Given the description of an element on the screen output the (x, y) to click on. 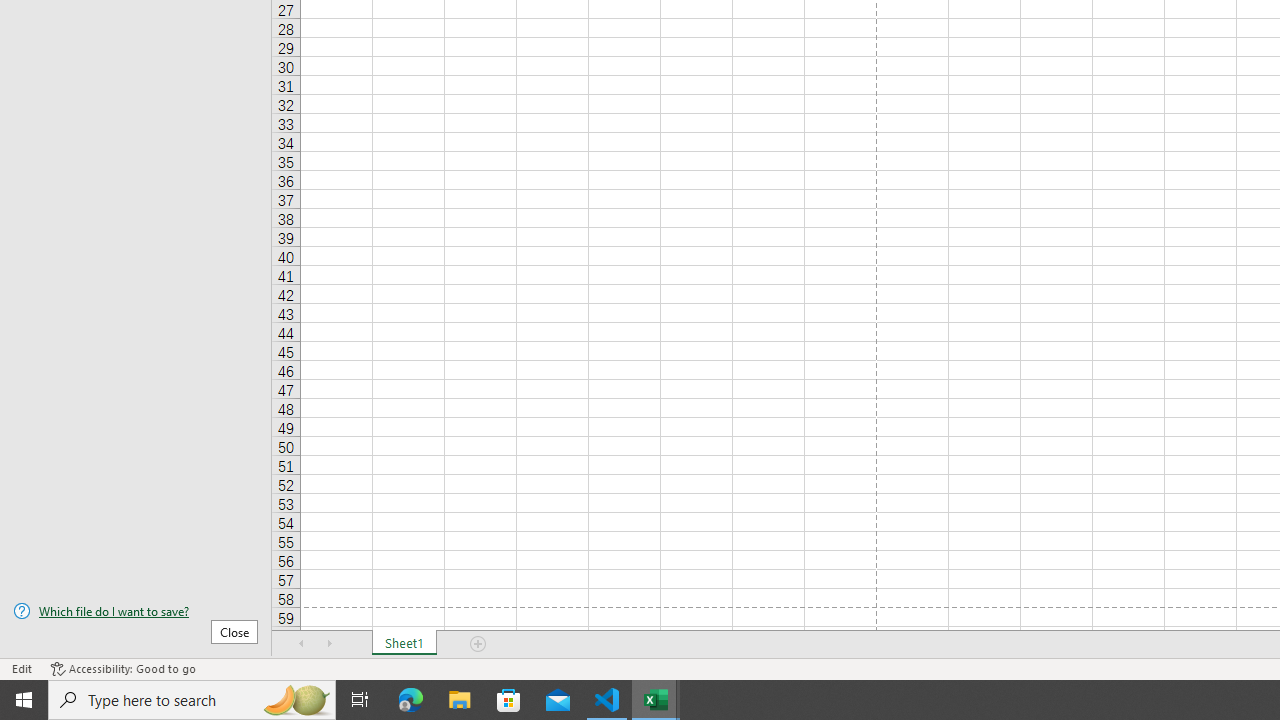
Add Sheet (478, 644)
Close (234, 631)
Sheet1 (404, 644)
Accessibility Checker Accessibility: Good to go (123, 668)
Which file do I want to save? (136, 611)
Scroll Left (302, 644)
Scroll Right (330, 644)
